Given the description of an element on the screen output the (x, y) to click on. 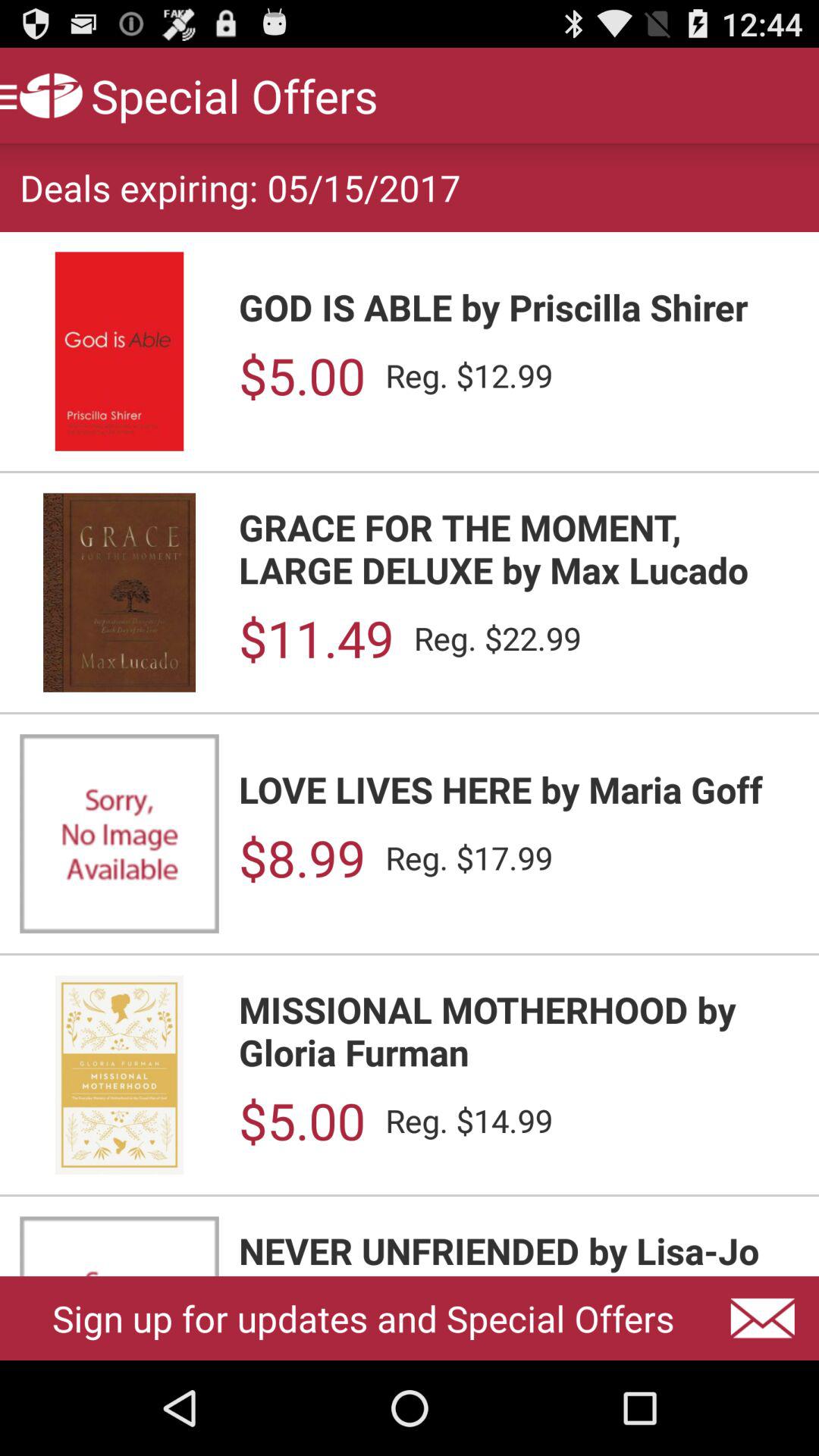
press never unfriended by app (518, 1251)
